Given the description of an element on the screen output the (x, y) to click on. 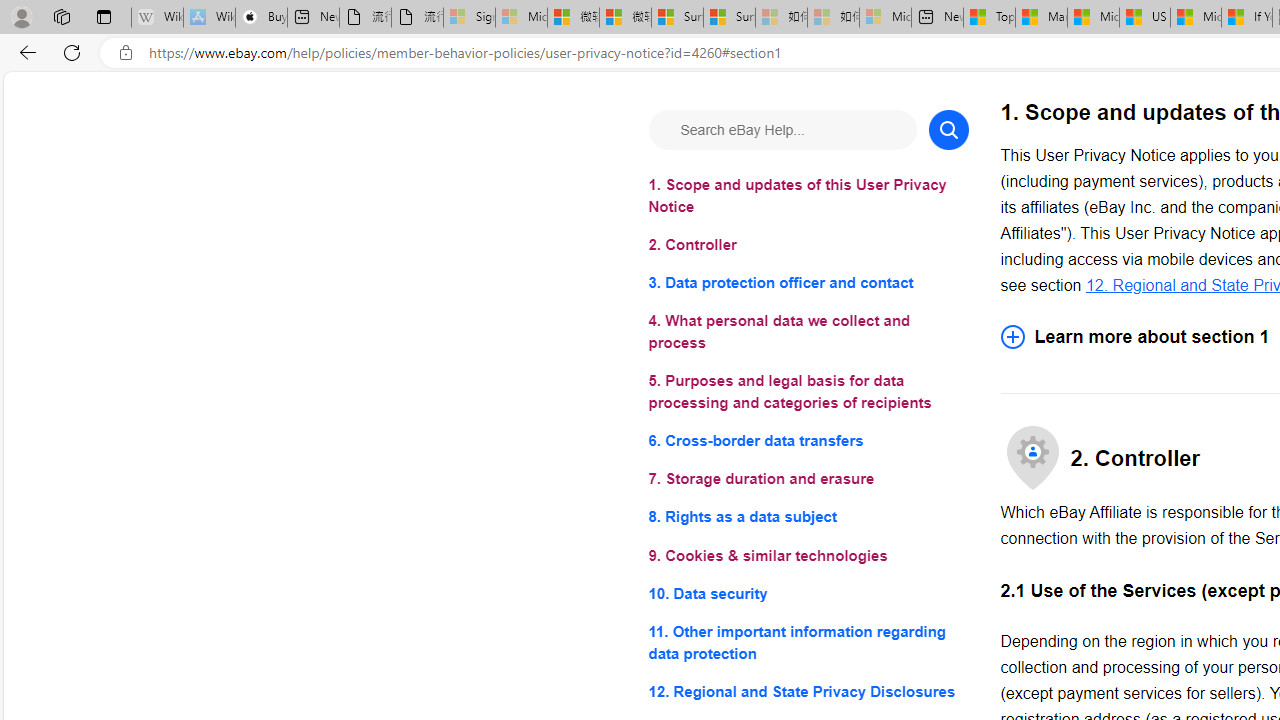
8. Rights as a data subject (807, 517)
1. Scope and updates of this User Privacy Notice (807, 196)
10. Data security (807, 592)
9. Cookies & similar technologies (807, 555)
7. Storage duration and erasure (807, 479)
1. Scope and updates of this User Privacy Notice (807, 196)
3. Data protection officer and contact (807, 283)
Wikipedia - Sleeping (157, 17)
3. Data protection officer and contact (807, 283)
Search eBay Help... (781, 129)
Top Stories - MSN (989, 17)
